Given the description of an element on the screen output the (x, y) to click on. 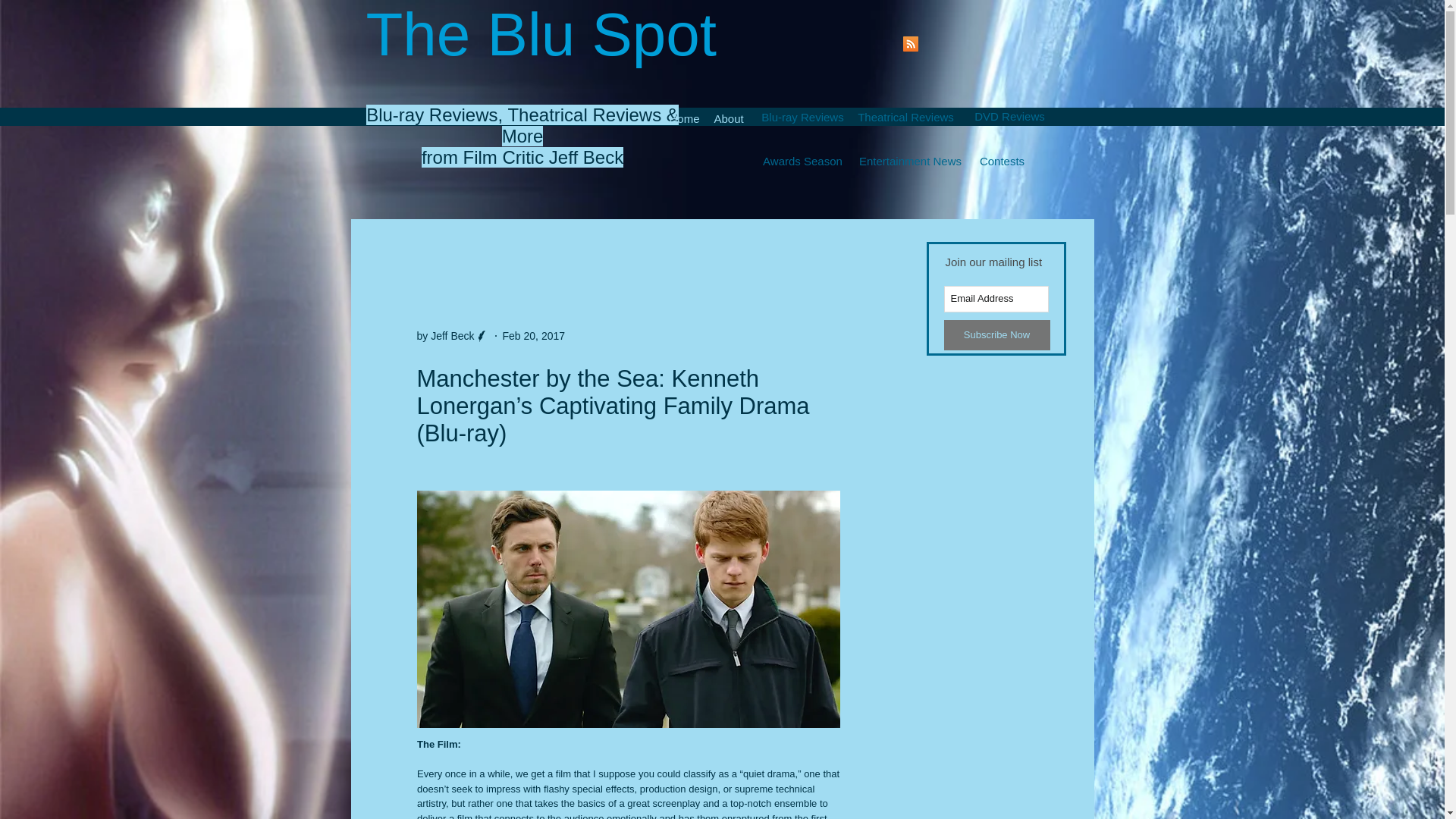
Awards Season (803, 160)
Feb 20, 2017 (534, 335)
Twitter Tweet (850, 249)
Subscribe Now (996, 335)
Blu-ray Reviews (803, 116)
Contests (1001, 160)
Home (683, 116)
About (728, 116)
DVD Reviews (1008, 116)
Theatrical Reviews (905, 116)
